Given the description of an element on the screen output the (x, y) to click on. 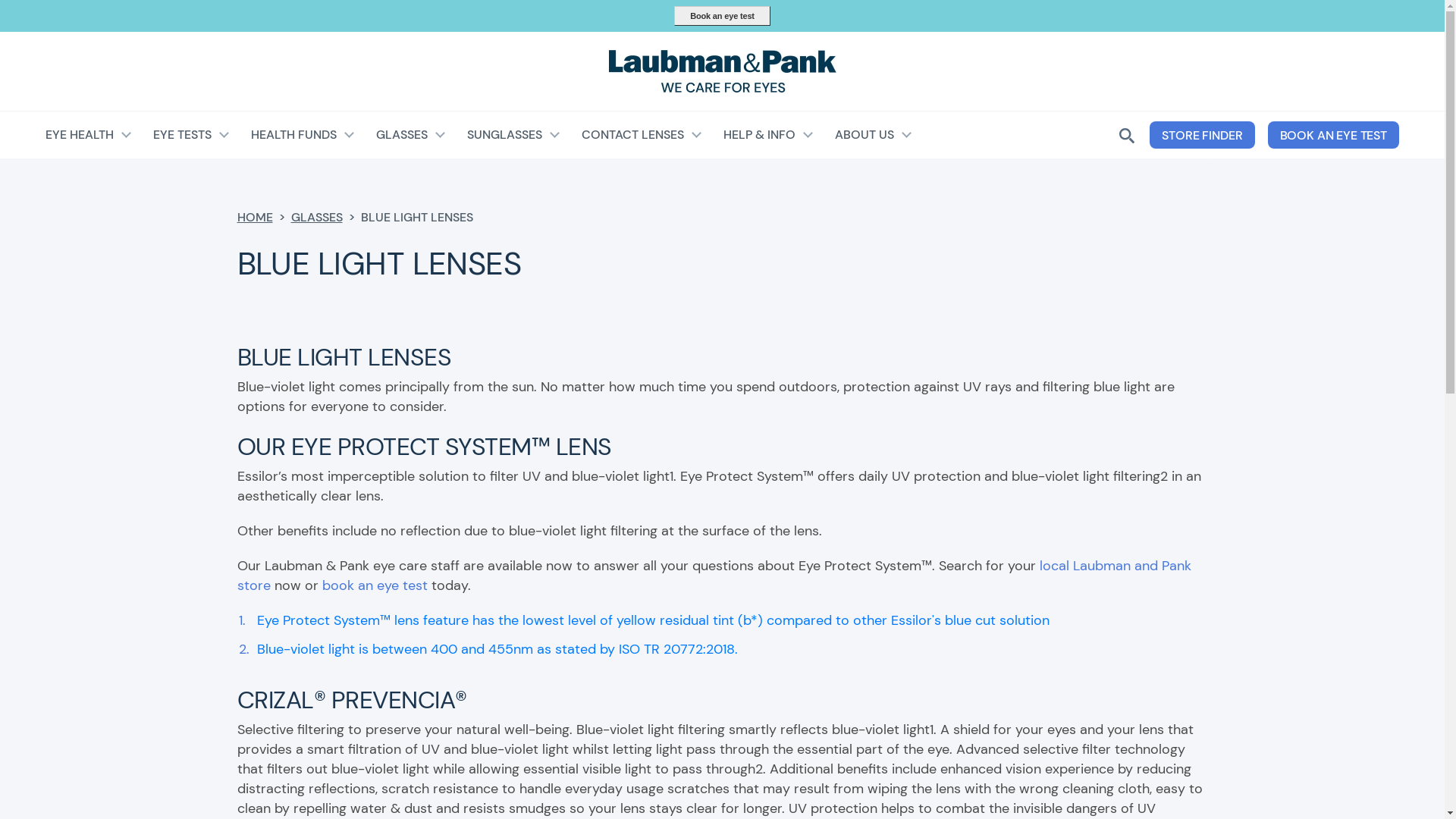
HELP & INFO Element type: text (768, 134)
EYE TESTS Element type: text (191, 134)
Laubman & Pank Element type: hover (721, 71)
ABOUT US Element type: text (873, 134)
Skip to main content Element type: text (721, 1)
EYE HEALTH Element type: text (88, 134)
HOME Element type: text (254, 217)
Book an eye test Element type: text (722, 15)
book an eye test Element type: text (373, 585)
Search Element type: text (922, 186)
BOOK AN EYE TEST Element type: text (1333, 134)
HEALTH FUNDS Element type: text (303, 134)
GLASSES Element type: text (411, 134)
CONTACT LENSES Element type: text (641, 134)
local Laubman and Pank store Element type: text (713, 575)
STORE FINDER Element type: text (1201, 134)
SUNGLASSES Element type: text (514, 134)
GLASSES Element type: text (316, 217)
